Given the description of an element on the screen output the (x, y) to click on. 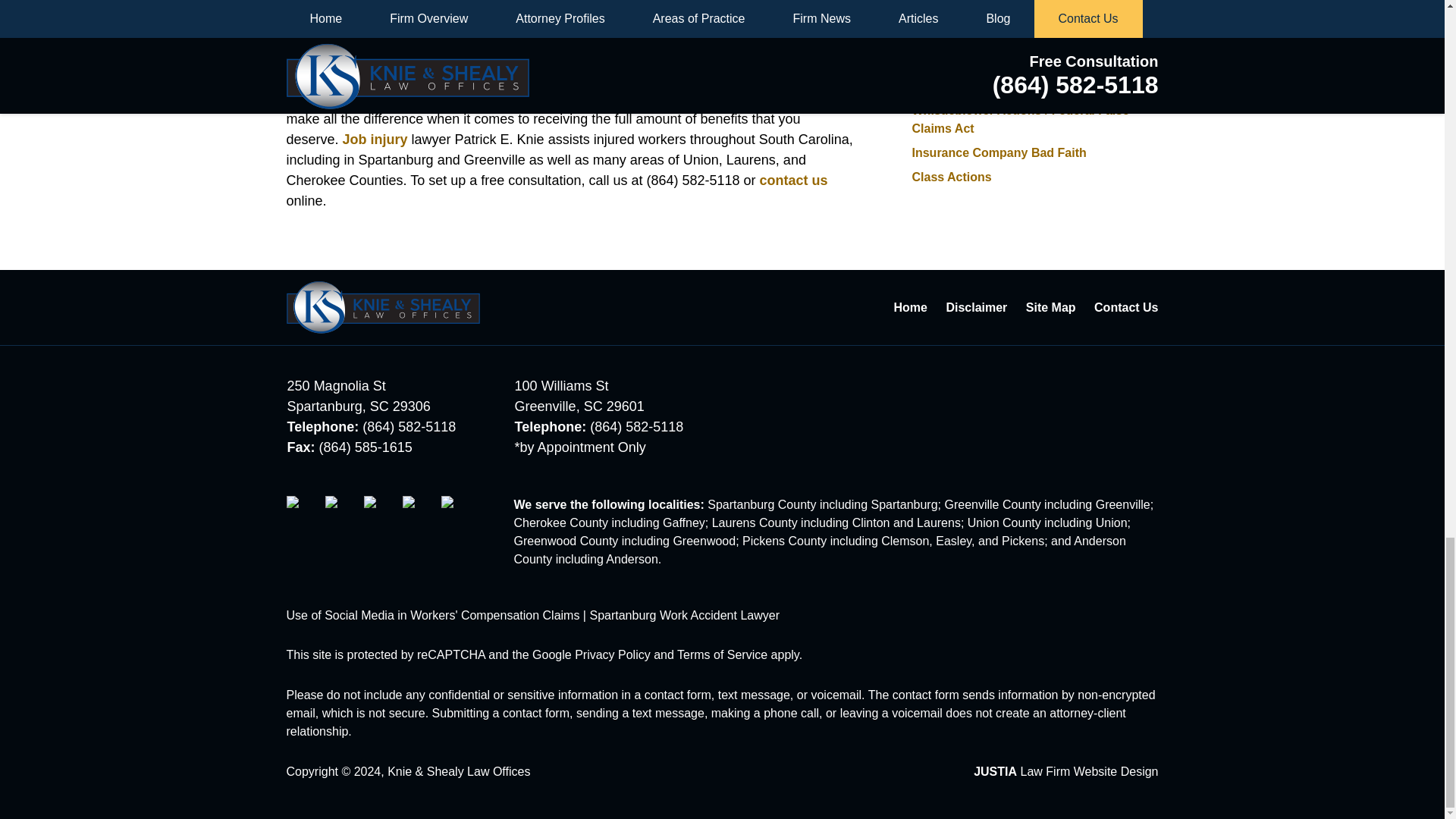
Twitter (341, 513)
AVVO (458, 513)
Job injury (374, 139)
LinkedIn (381, 513)
Justia (418, 513)
contact us (794, 180)
Facebook (303, 513)
